Given the description of an element on the screen output the (x, y) to click on. 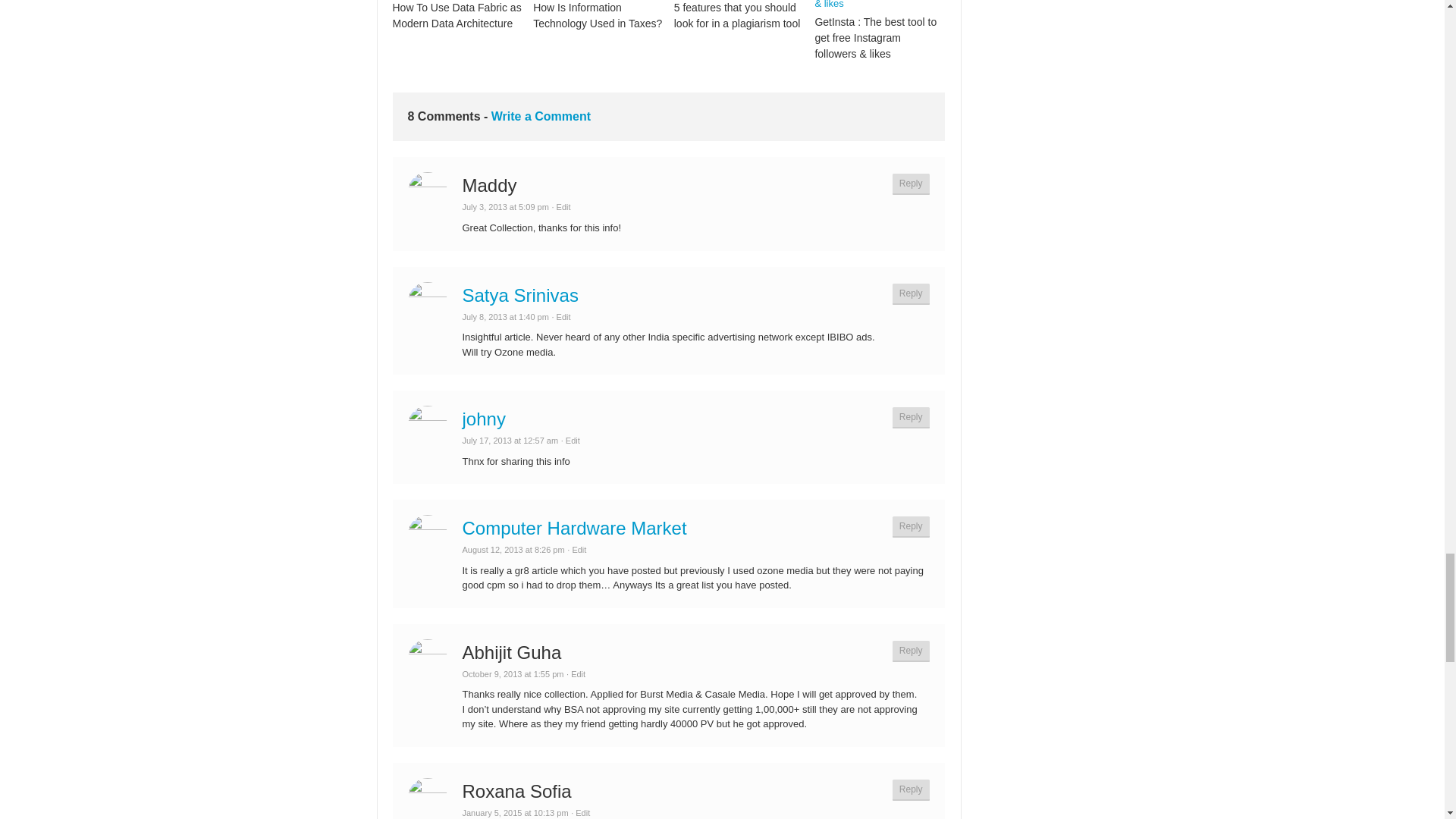
Wednesday, July 3, 2013, 5:09 pm (505, 206)
Edit Comment (560, 316)
Wednesday, October 9, 2013, 1:55 pm (513, 673)
Monday, January 5, 2015, 10:13 pm (516, 812)
Monday, August 12, 2013, 8:26 pm (513, 549)
Edit Comment (576, 549)
Monday, July 8, 2013, 1:40 pm (505, 316)
Edit Comment (560, 206)
Edit Comment (575, 673)
Edit Comment (579, 812)
Wednesday, July 17, 2013, 12:57 am (511, 440)
Edit Comment (569, 440)
